Given the description of an element on the screen output the (x, y) to click on. 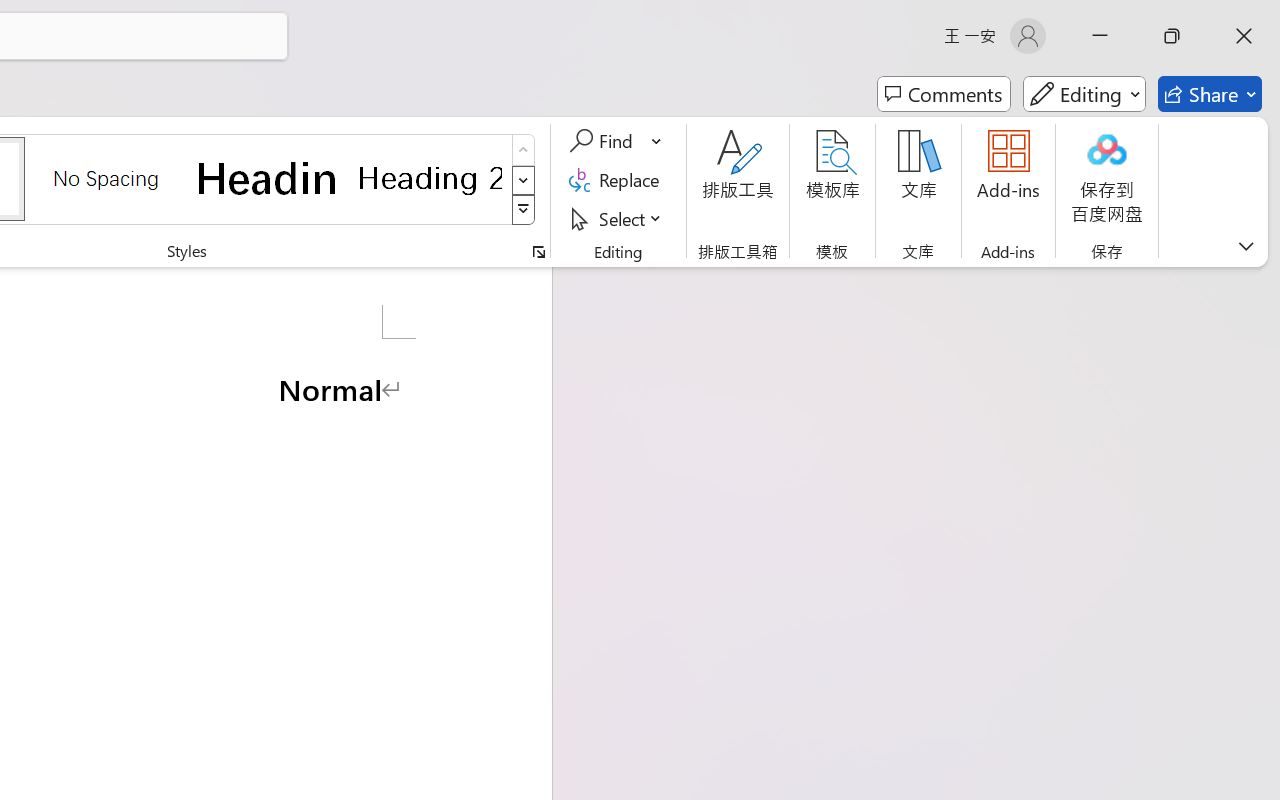
Row Down (523, 180)
Styles... (538, 252)
Heading 2 (429, 178)
